Given the description of an element on the screen output the (x, y) to click on. 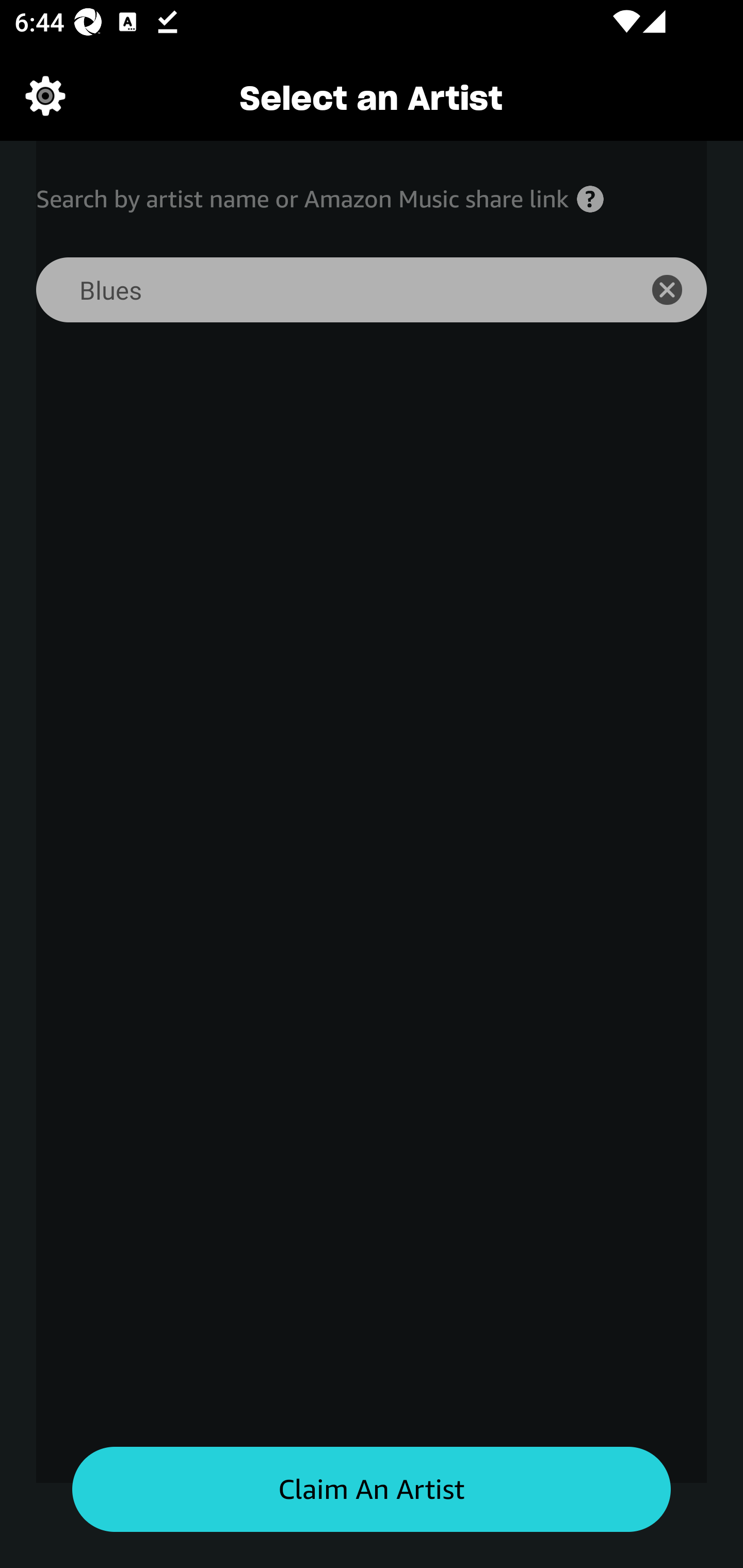
Help  icon (589, 199)
Blues Search for an artist search bar (324, 290)
 icon (677, 290)
Claim an artist button Claim An Artist (371, 1489)
